Given the description of an element on the screen output the (x, y) to click on. 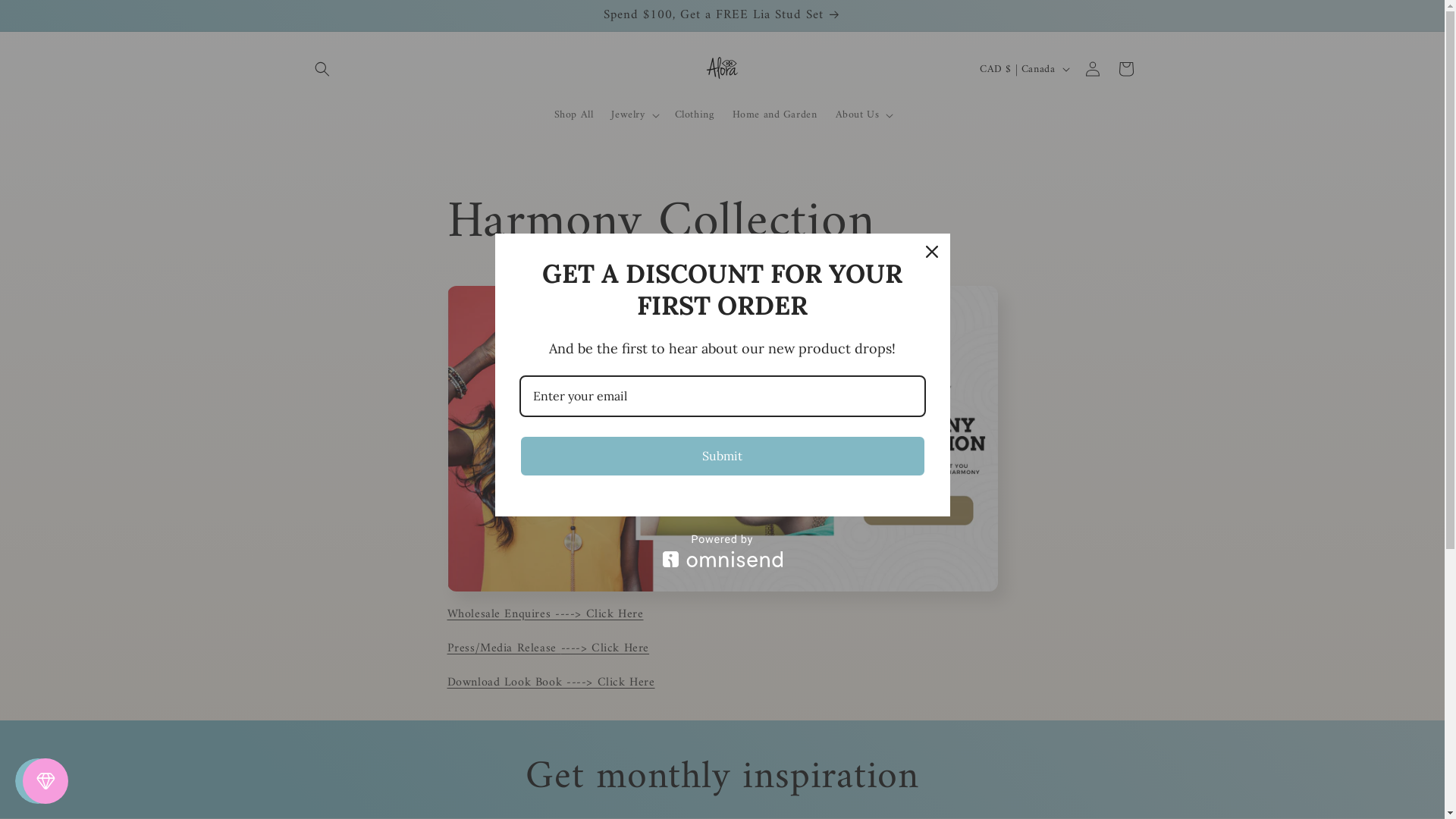
Home and Garden Element type: text (774, 115)
Clothing Element type: text (694, 115)
Cart Element type: text (1125, 68)
Press/Media Release ----> Click Here Element type: text (548, 647)
jewelry brand company calgary canada Element type: hover (722, 438)
Wholesale Enquires ----> Click Here Element type: text (545, 613)
CAD $ | Canada Element type: text (1022, 68)
Smile.io Rewards Program Launcher Element type: hover (37, 780)
Download Look Book ----> Click Here Element type: text (551, 682)
Spend $100, Get a FREE Lia Stud Set Element type: text (721, 15)
Shop All Element type: text (573, 115)
Log in Element type: text (1091, 68)
